Given the description of an element on the screen output the (x, y) to click on. 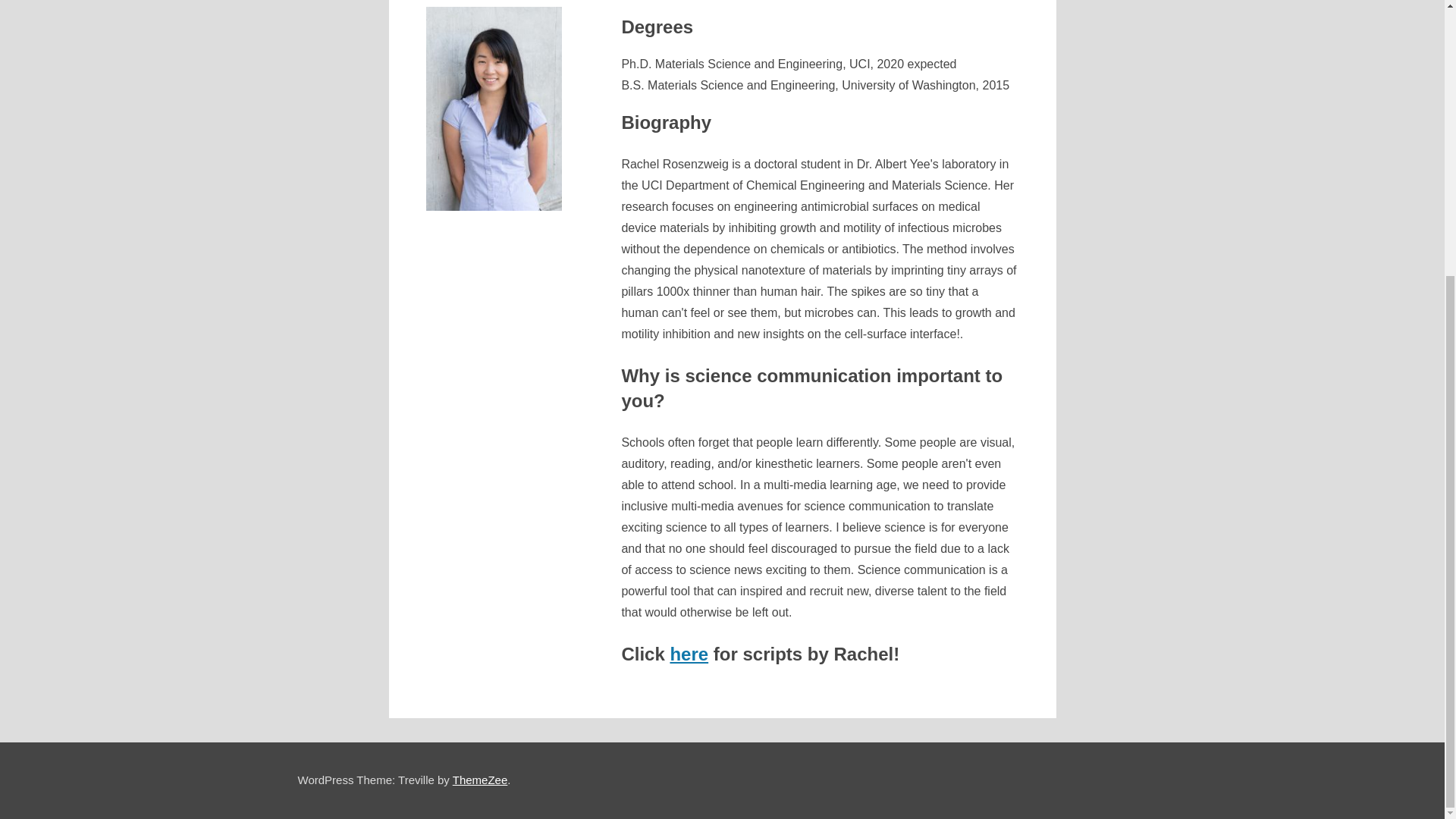
here (688, 653)
ThemeZee (480, 779)
